Given the description of an element on the screen output the (x, y) to click on. 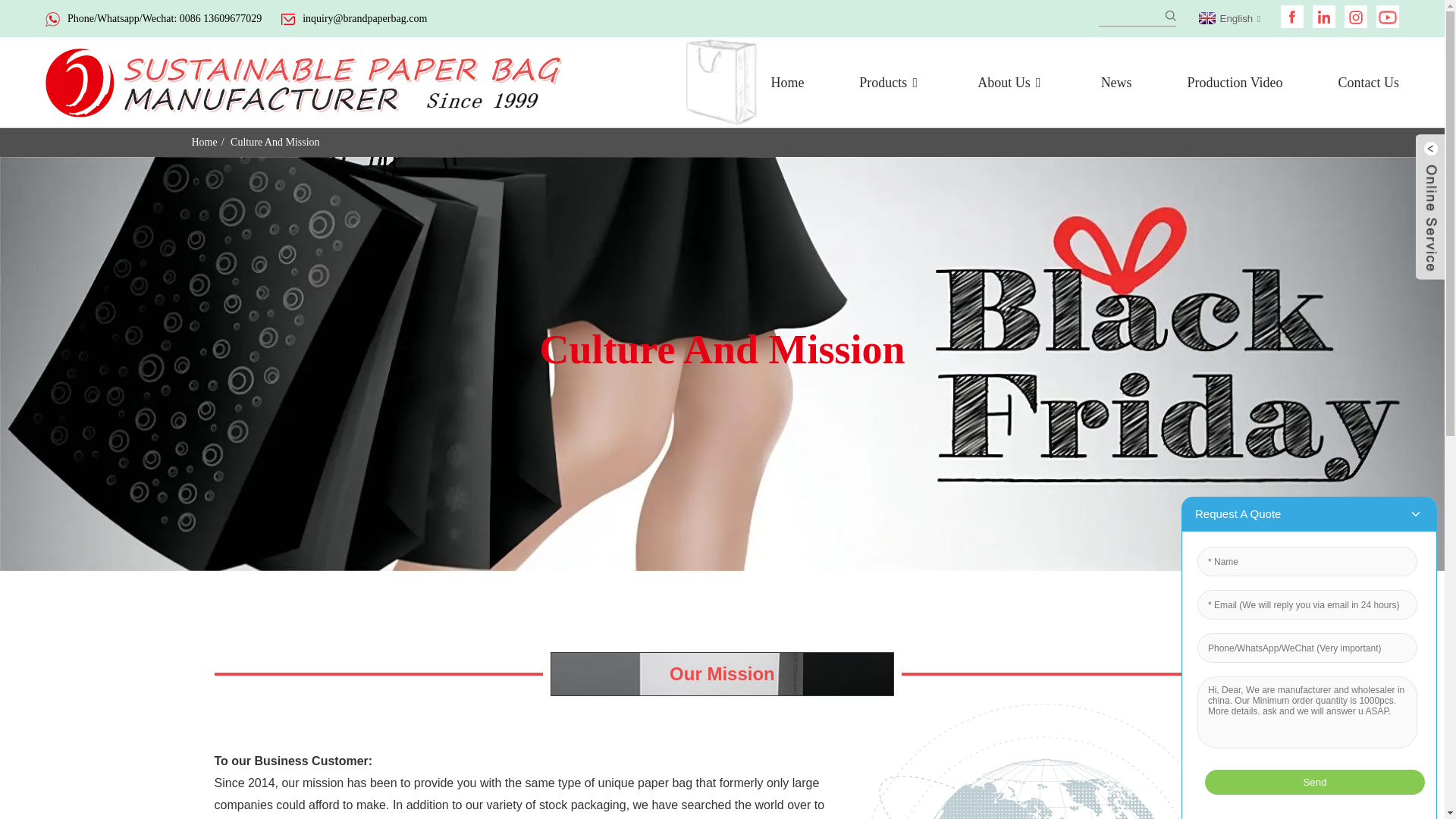
English (1227, 17)
